Given the description of an element on the screen output the (x, y) to click on. 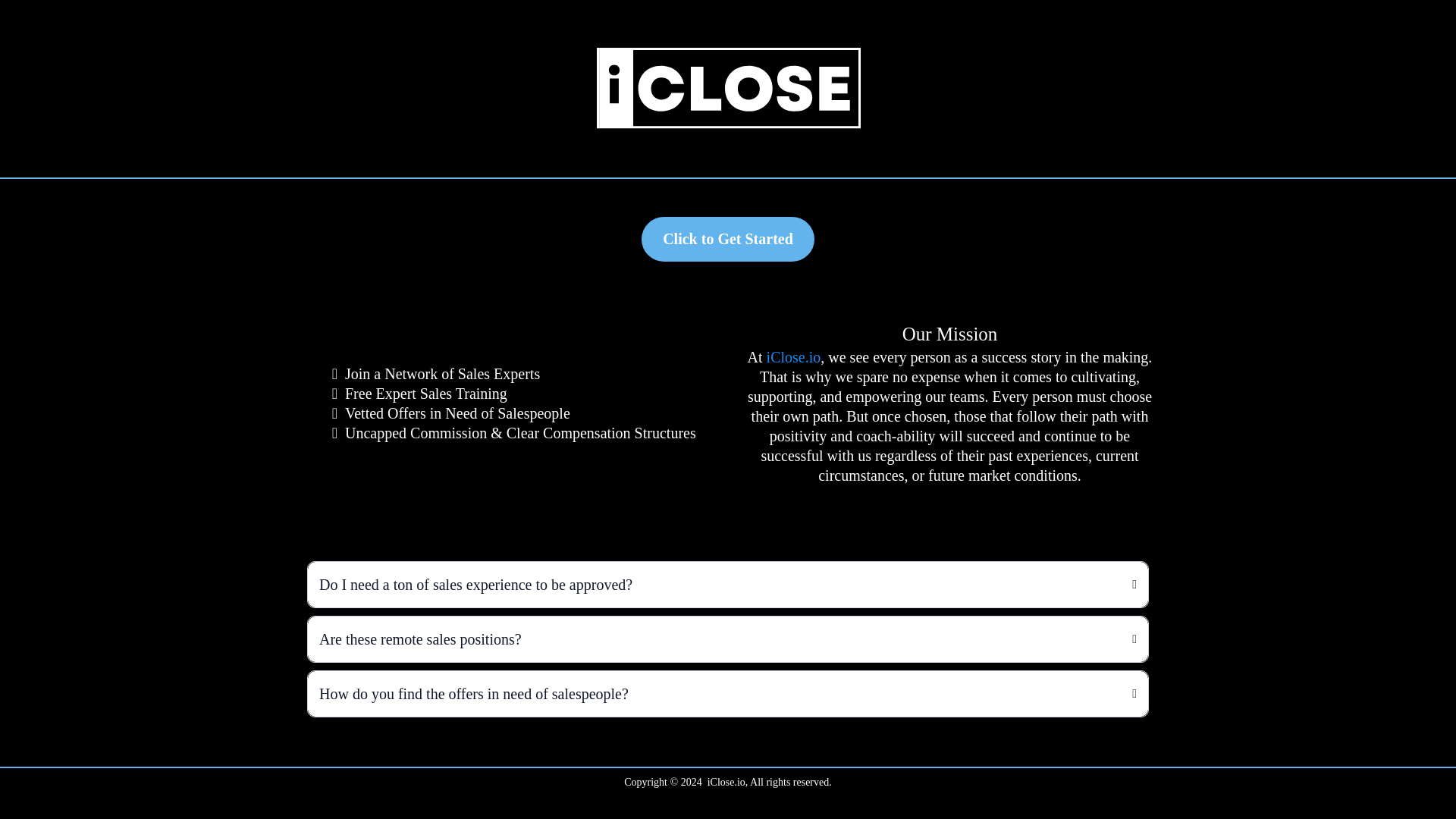
iClose.io (794, 356)
Click to Get Started (727, 239)
